Given the description of an element on the screen output the (x, y) to click on. 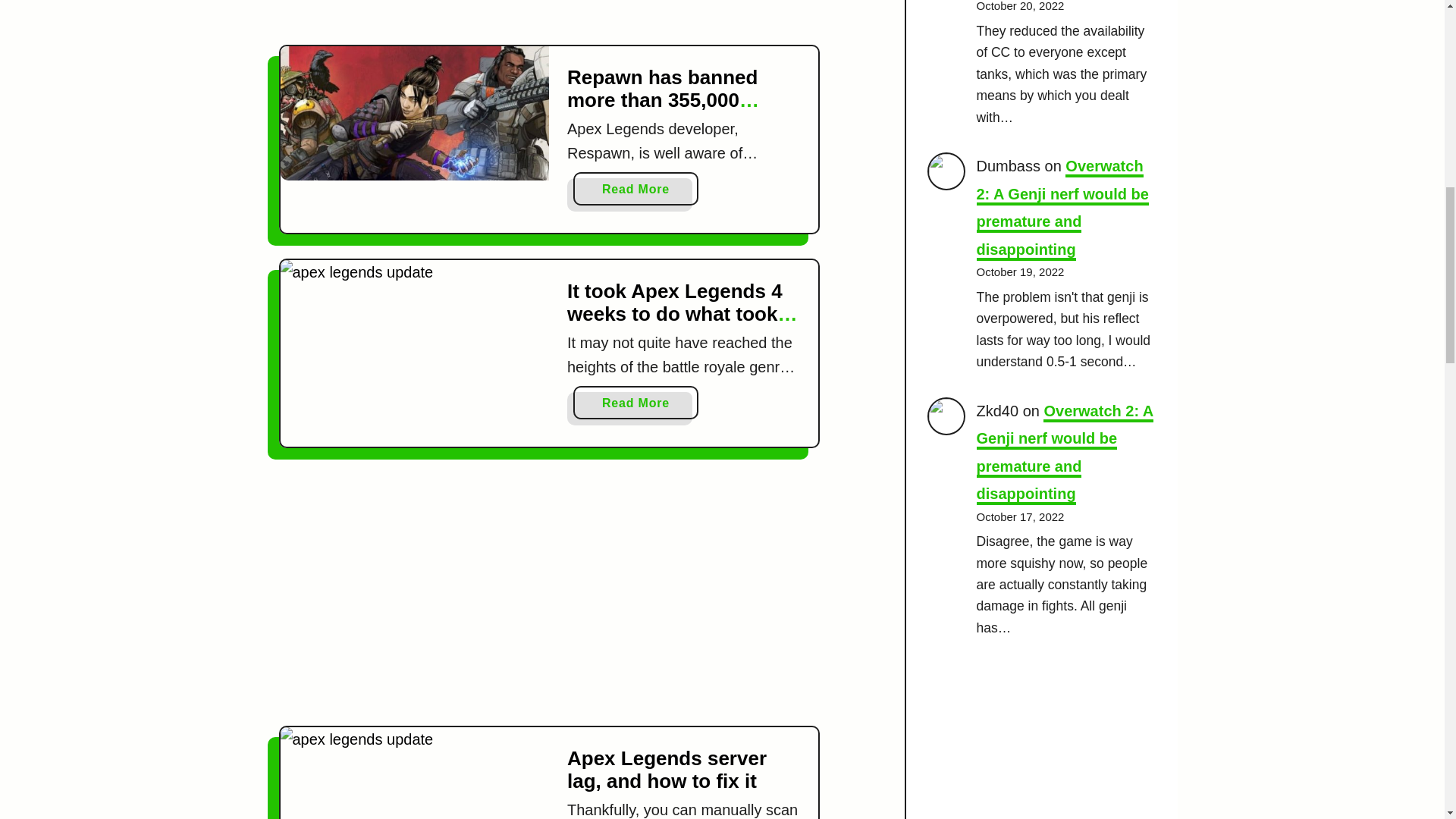
Apex Legends server lag, and how to fix it (667, 769)
Apex Legends server lag, and how to fix it (415, 772)
